Given the description of an element on the screen output the (x, y) to click on. 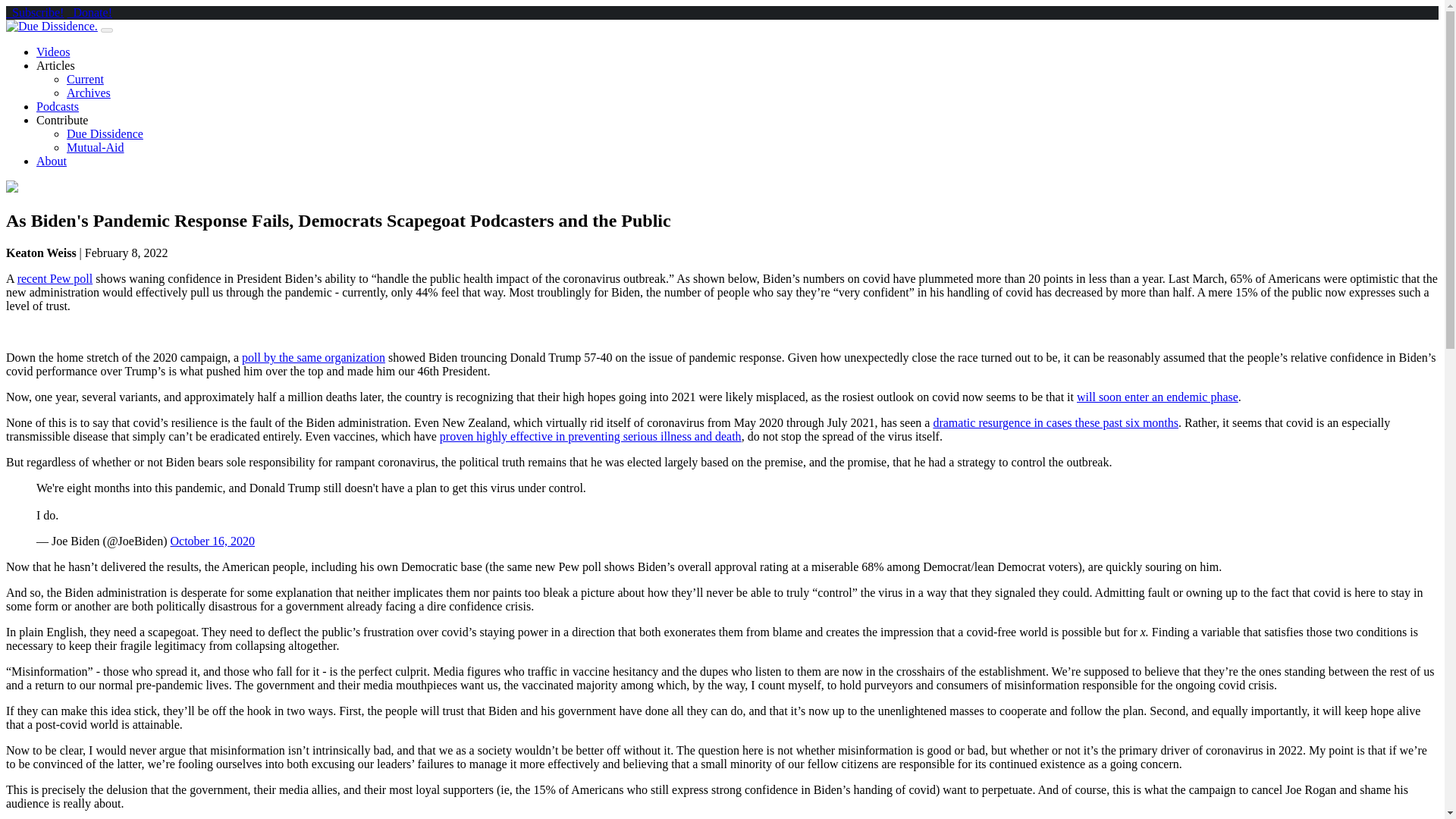
About (51, 160)
  Subscribe! (34, 11)
Due Dissidence (104, 133)
Articles (55, 65)
October 16, 2020 (212, 540)
Archives (88, 92)
Podcasts (57, 106)
Current (84, 78)
recent Pew poll (55, 278)
  Donate! (89, 11)
Mutual-Aid (94, 146)
poll by the same organization (313, 357)
will soon enter an endemic phase (1158, 396)
dramatic resurgence in cases these past six months (1055, 422)
Contribute (61, 119)
